Given the description of an element on the screen output the (x, y) to click on. 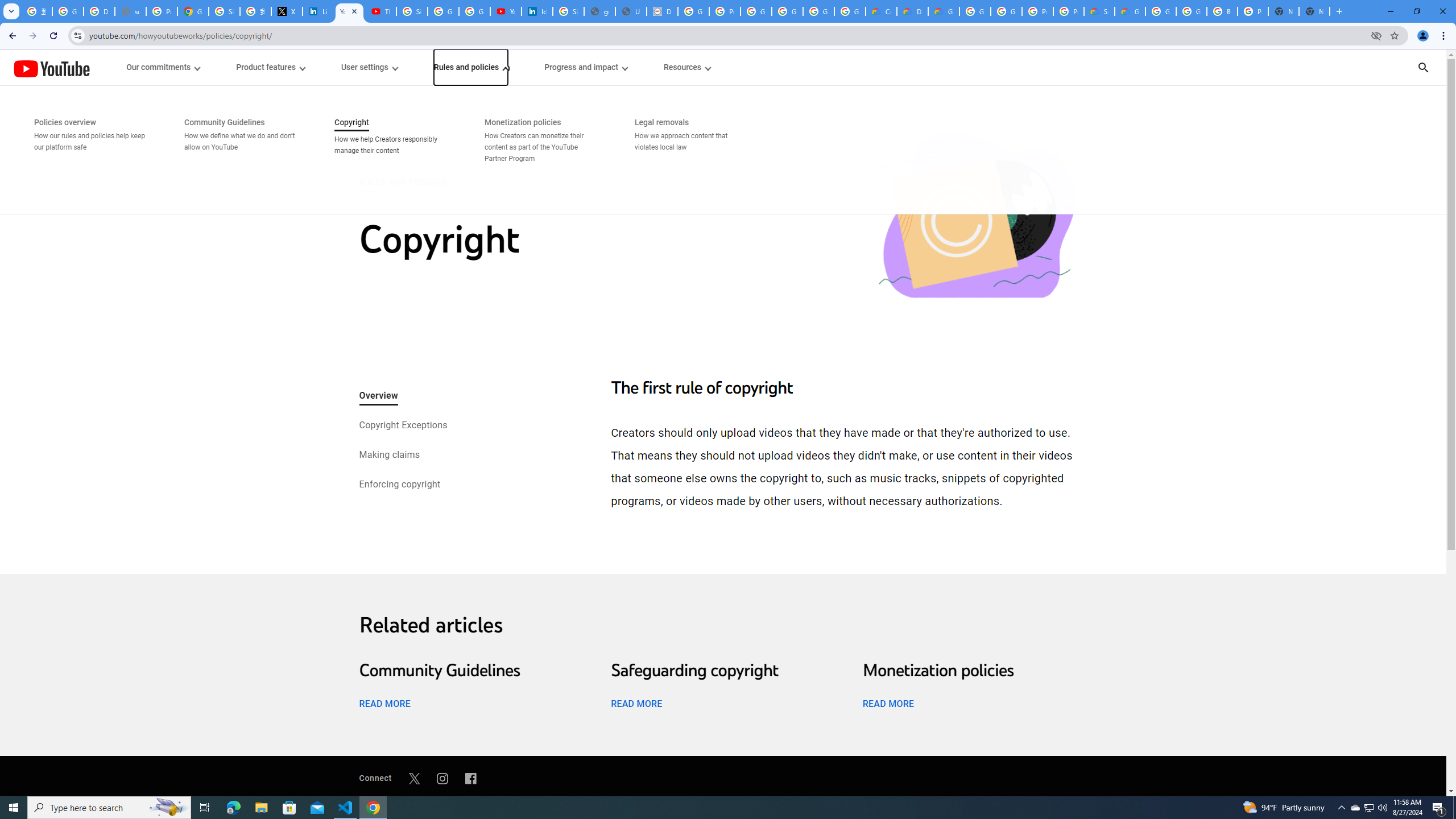
Copyright (974, 216)
User Details (631, 11)
Data Privacy Framework (662, 11)
Third-party cookies blocked (1376, 35)
Identity verification via Persona | LinkedIn Help (536, 11)
User settings menupopup (368, 67)
Twitter (413, 778)
Google Workspace - Specific Terms (818, 11)
X (286, 11)
